Given the description of an element on the screen output the (x, y) to click on. 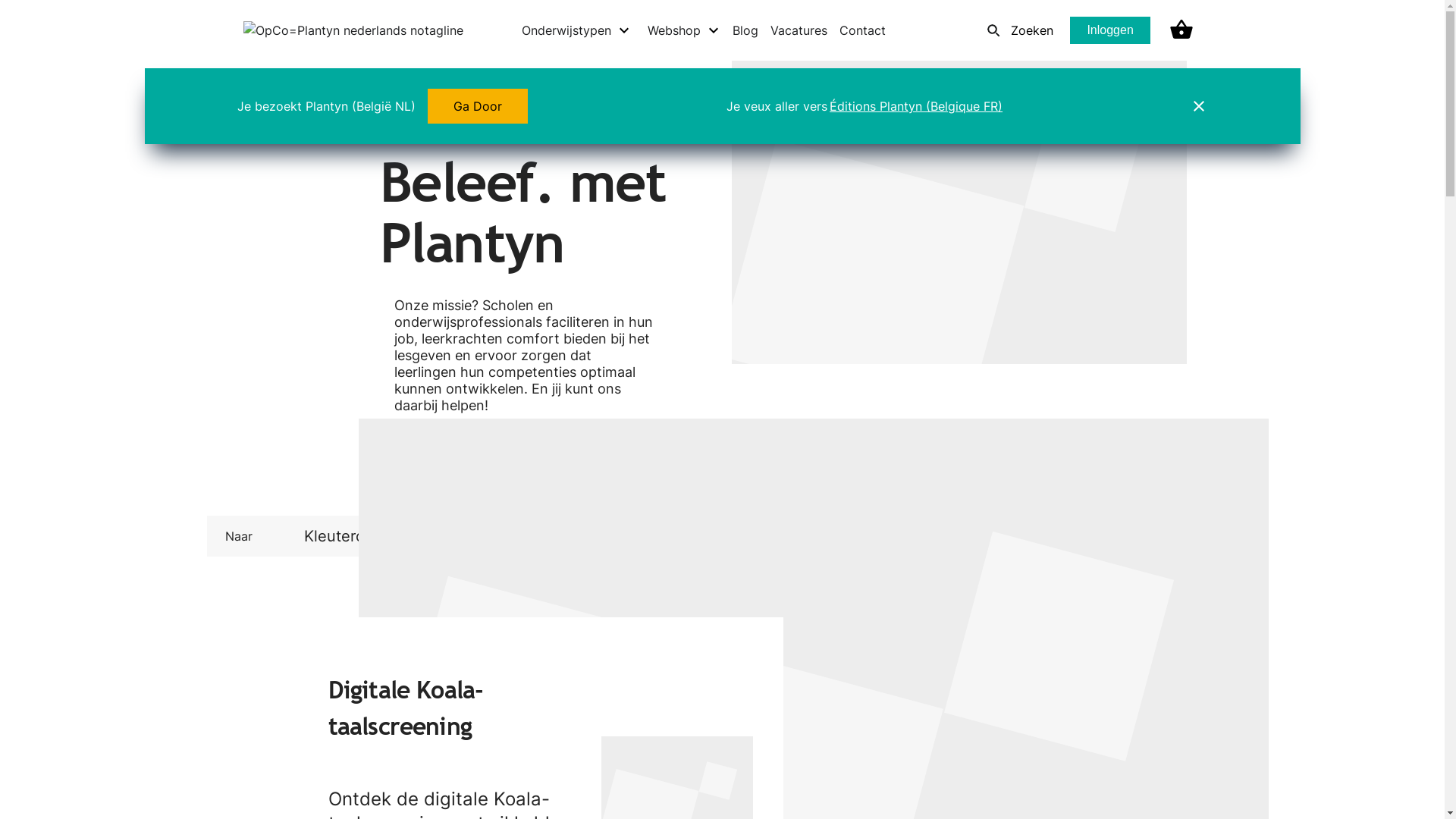
Blog Element type: text (745, 30)
Lager onderwijs Element type: text (523, 535)
Inloggen Element type: text (1109, 29)
Contact Element type: text (862, 30)
Over ons Element type: text (445, 467)
Secundair onderwijs Element type: text (695, 535)
Vacatures Element type: text (798, 30)
Hoger onderwijs Element type: text (869, 535)
OpCo=Plantyn nederlands notagline Element type: hover (353, 30)
Kleuteronderwijs Element type: text (363, 535)
Ga Door Element type: text (477, 105)
Zoeken Element type: text (1015, 30)
